Given the description of an element on the screen output the (x, y) to click on. 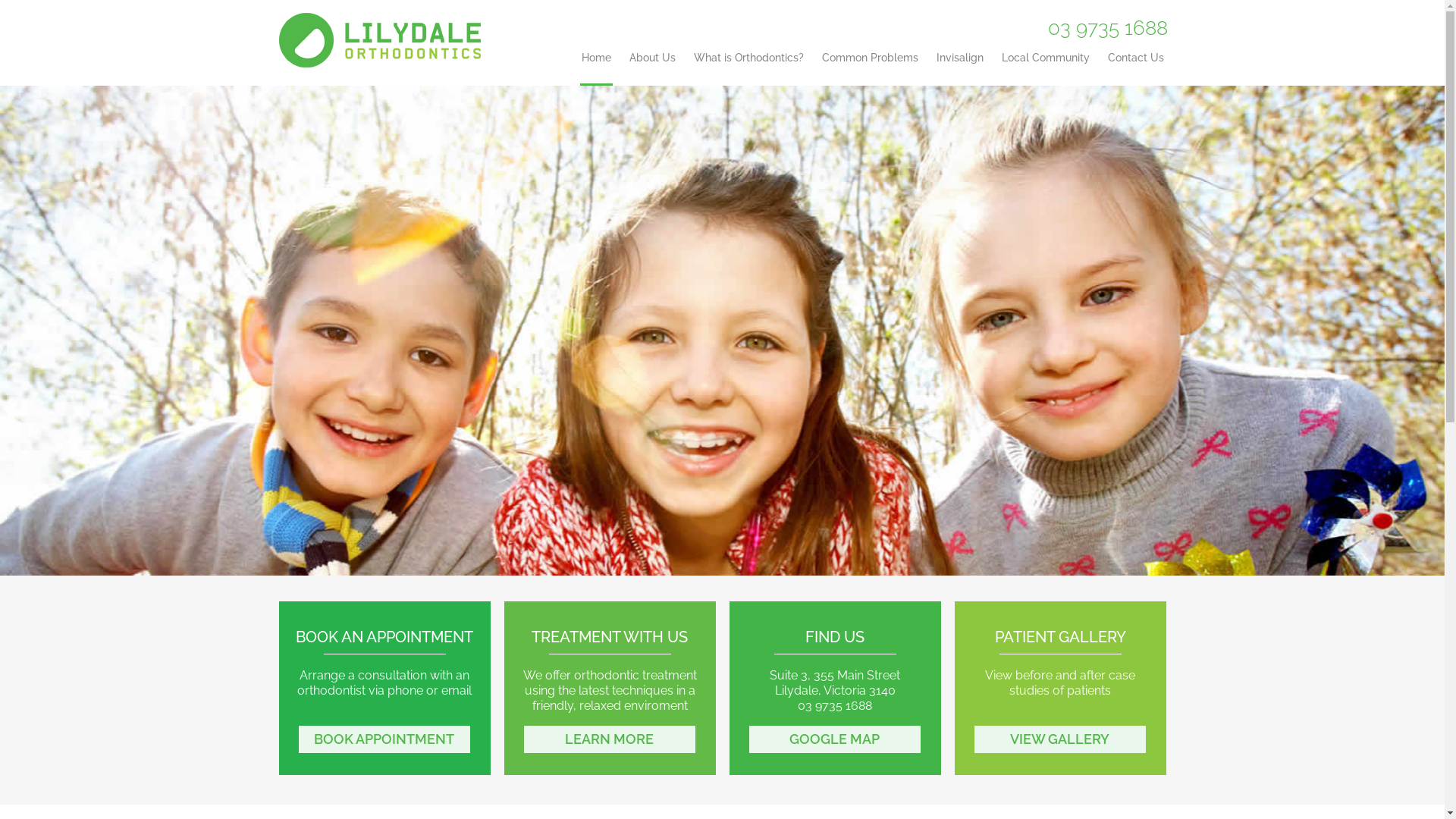
Home Element type: text (595, 68)
LEARN MORE Element type: text (610, 739)
What is Orthodontics? Element type: text (747, 68)
Common Problems Element type: text (869, 68)
Local Community Element type: text (1044, 68)
VIEW GALLERY Element type: text (1060, 739)
GOOGLE MAP Element type: text (835, 739)
BOOK APPOINTMENT Element type: text (384, 739)
Contact Us Element type: text (1134, 68)
03 9735 1688 Element type: text (1107, 27)
03 9735 1688 Element type: text (834, 705)
About Us Element type: text (652, 68)
Invisalign Element type: text (959, 68)
